Given the description of an element on the screen output the (x, y) to click on. 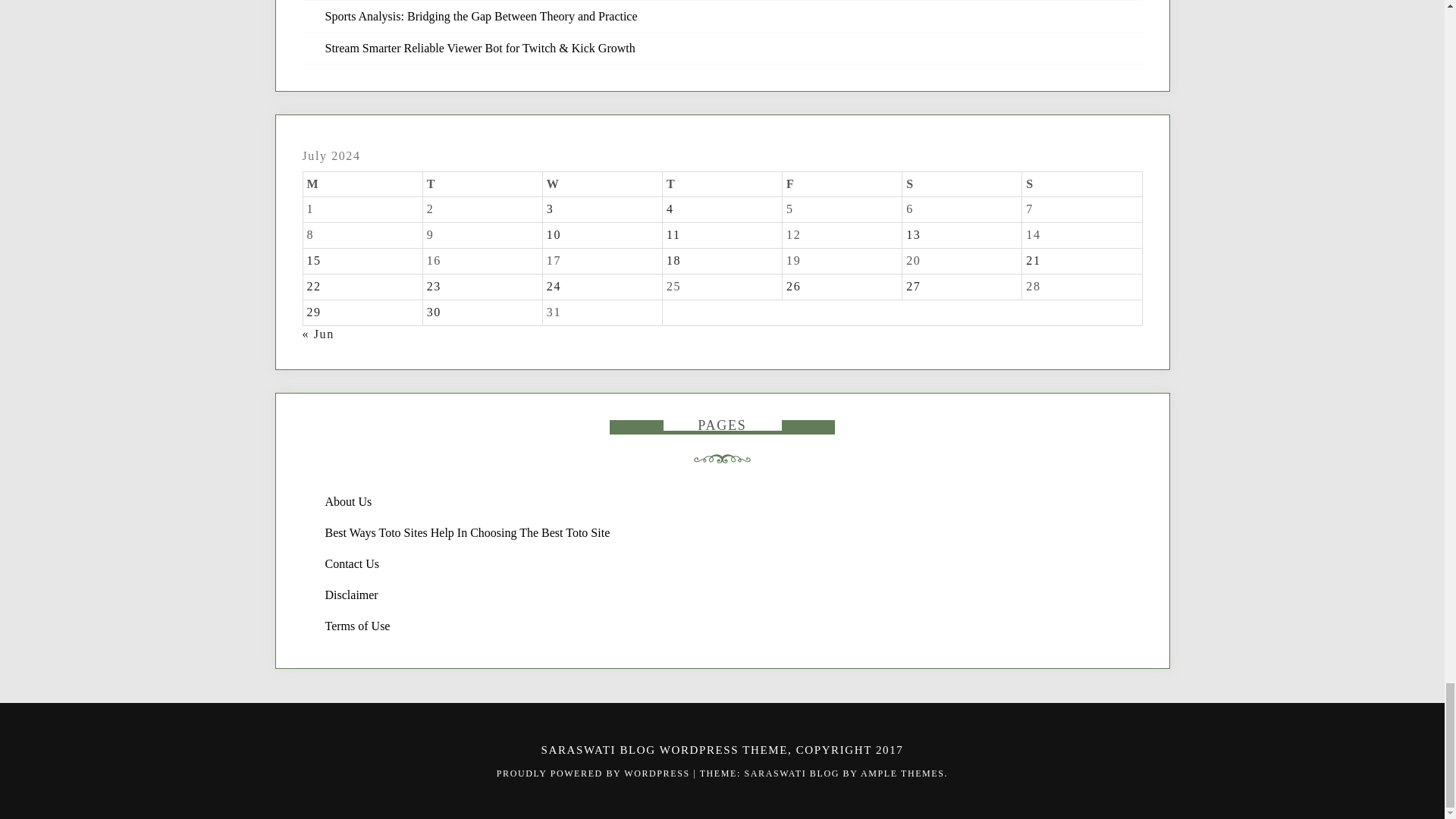
Wednesday (601, 184)
Sunday (1081, 184)
Saturday (962, 184)
Friday (842, 184)
Thursday (721, 184)
Tuesday (481, 184)
Monday (362, 184)
